Given the description of an element on the screen output the (x, y) to click on. 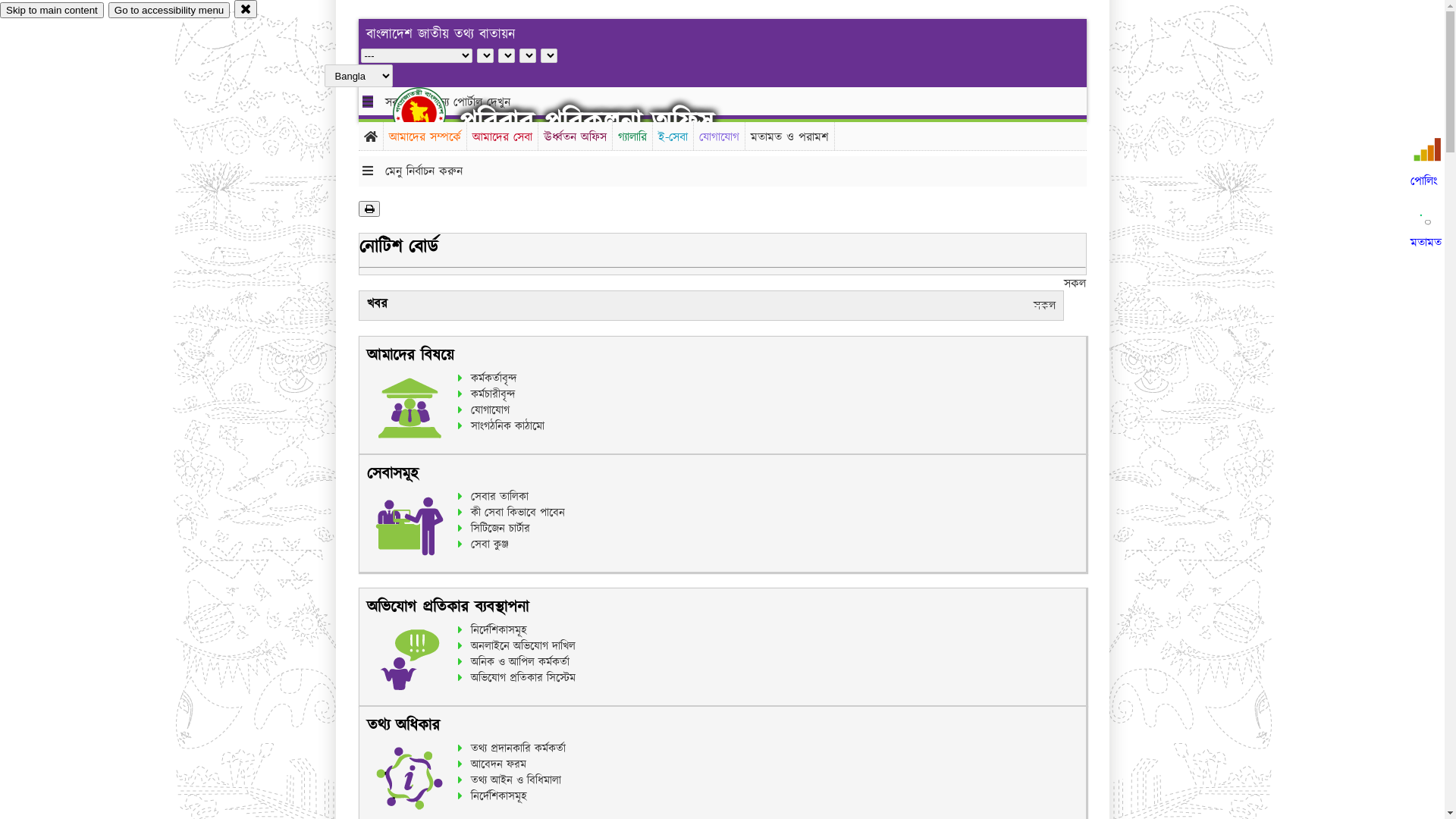

                
             Element type: hover (431, 112)
Go to accessibility menu Element type: text (168, 10)
Skip to main content Element type: text (51, 10)
close Element type: hover (245, 9)
